Given the description of an element on the screen output the (x, y) to click on. 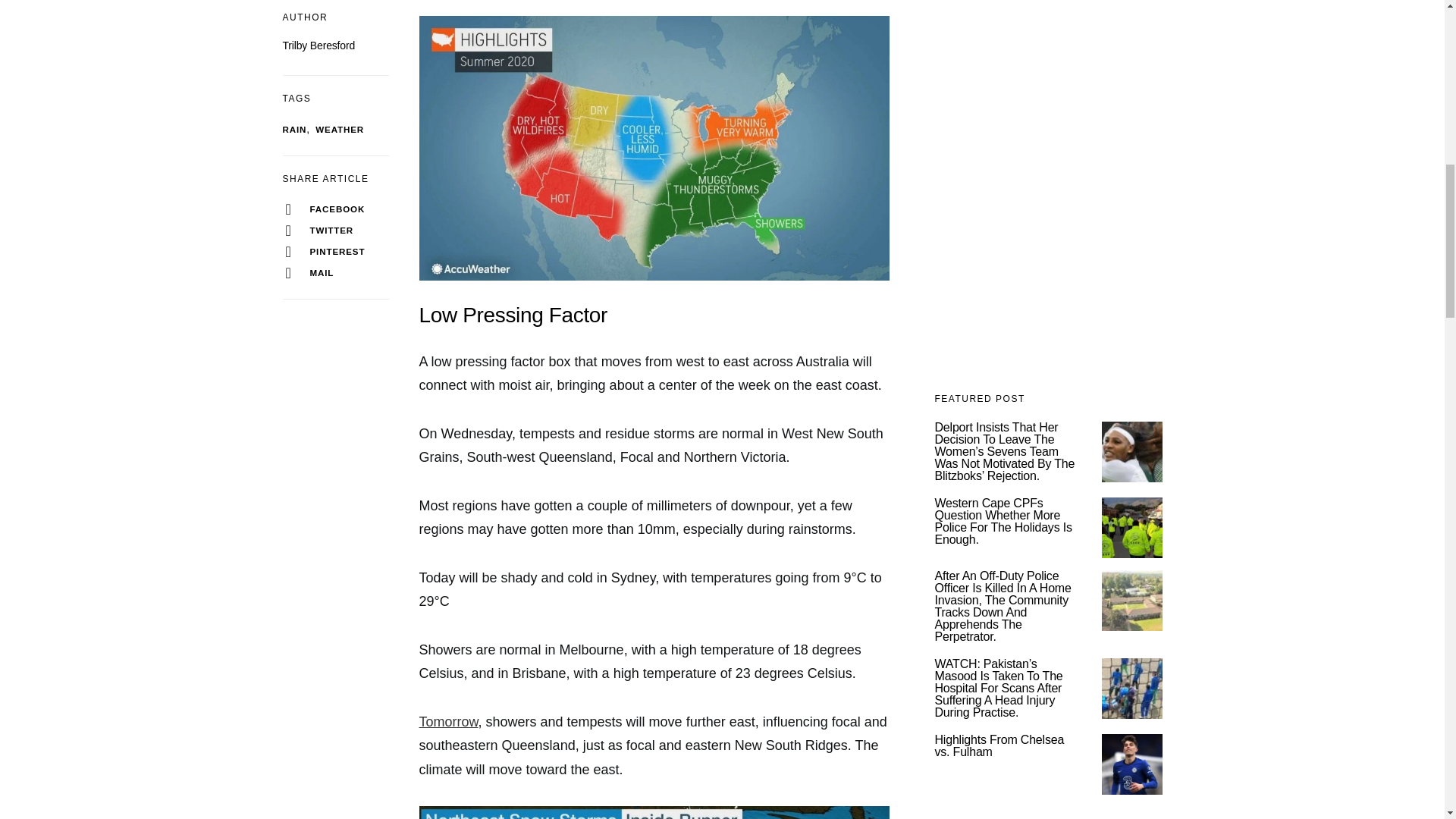
RAIN (293, 129)
TWITTER (335, 230)
FACEBOOK (335, 209)
Trilby Beresford (318, 45)
WEATHER (339, 129)
